Given the description of an element on the screen output the (x, y) to click on. 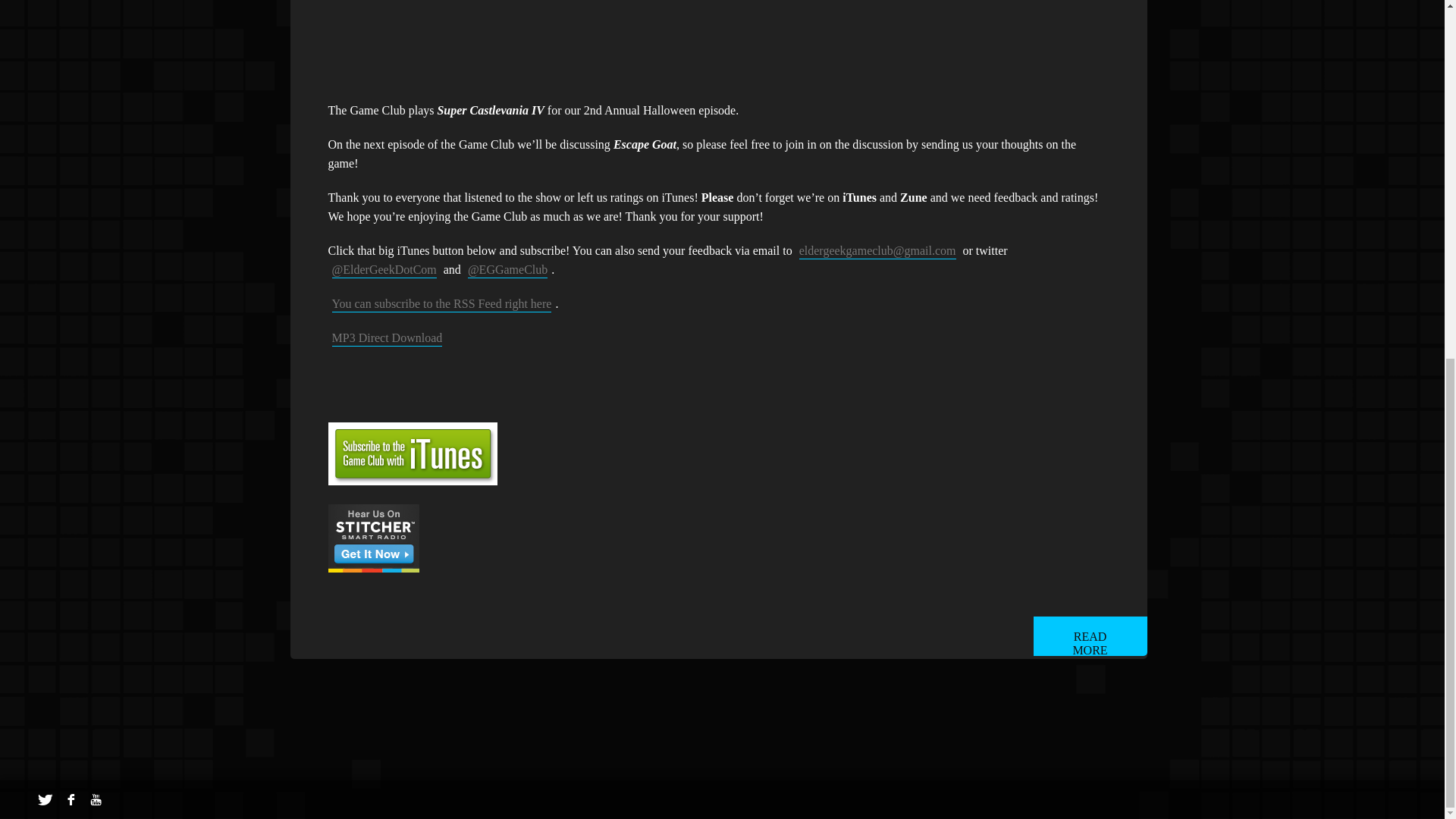
You can subscribe to the RSS Feed right here (441, 303)
Stitcher Logo (373, 538)
MP3 Direct Download (386, 338)
Subscribe to us through iTunes! (411, 453)
READ MORE (1089, 636)
